Given the description of an element on the screen output the (x, y) to click on. 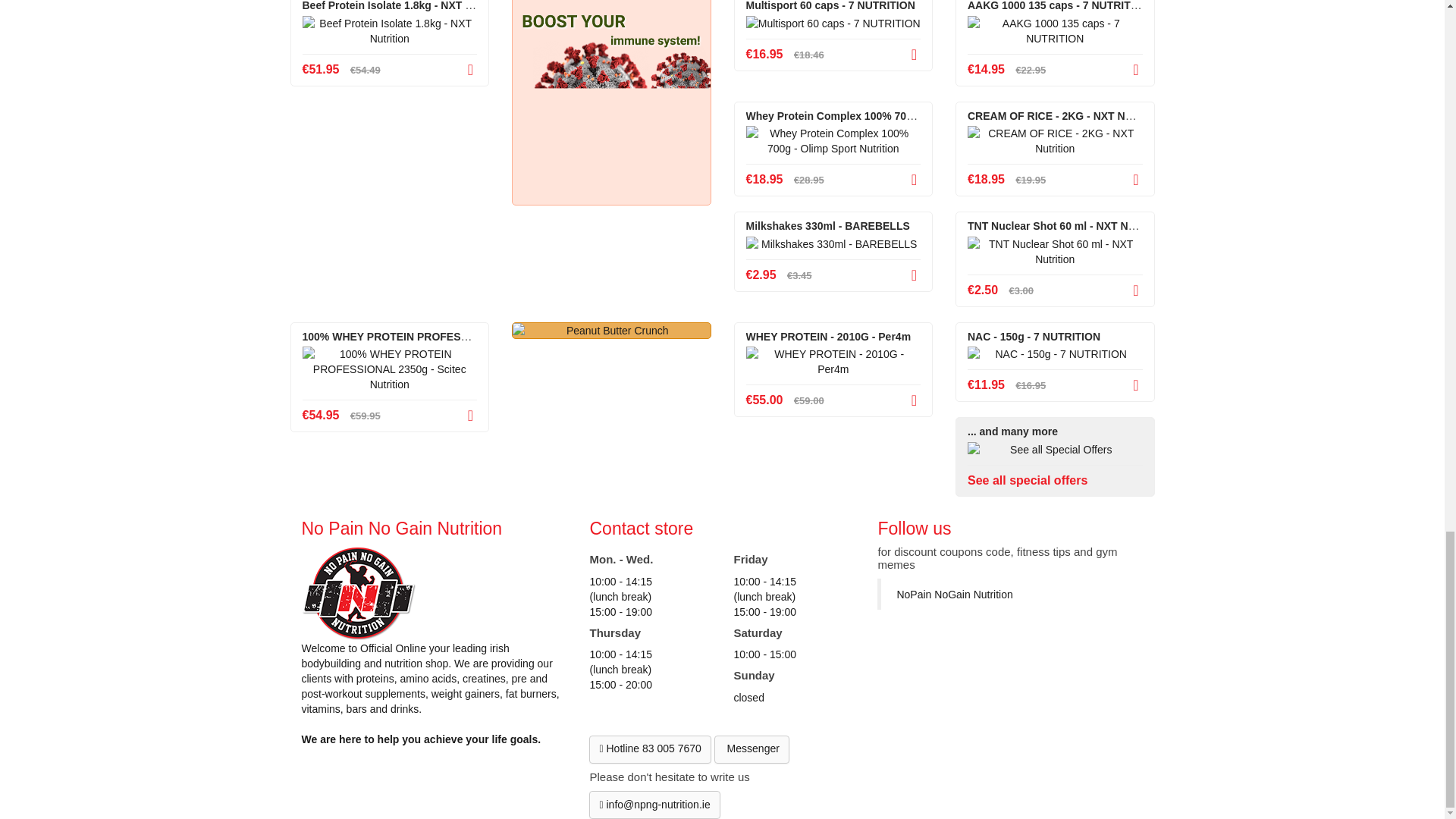
Milkshakes 330ml - BAREBELLS (833, 243)
Multisport 60 caps - 7 NUTRITION (833, 23)
Boost your immune system (611, 101)
Beef Protein Isolate 1.8kg - NXT Nutrition (389, 30)
AAKG 1000 135 caps - 7 NUTRITION (1055, 30)
CREAM OF RICE - 2KG - NXT Nutrition (1055, 141)
